Given the description of an element on the screen output the (x, y) to click on. 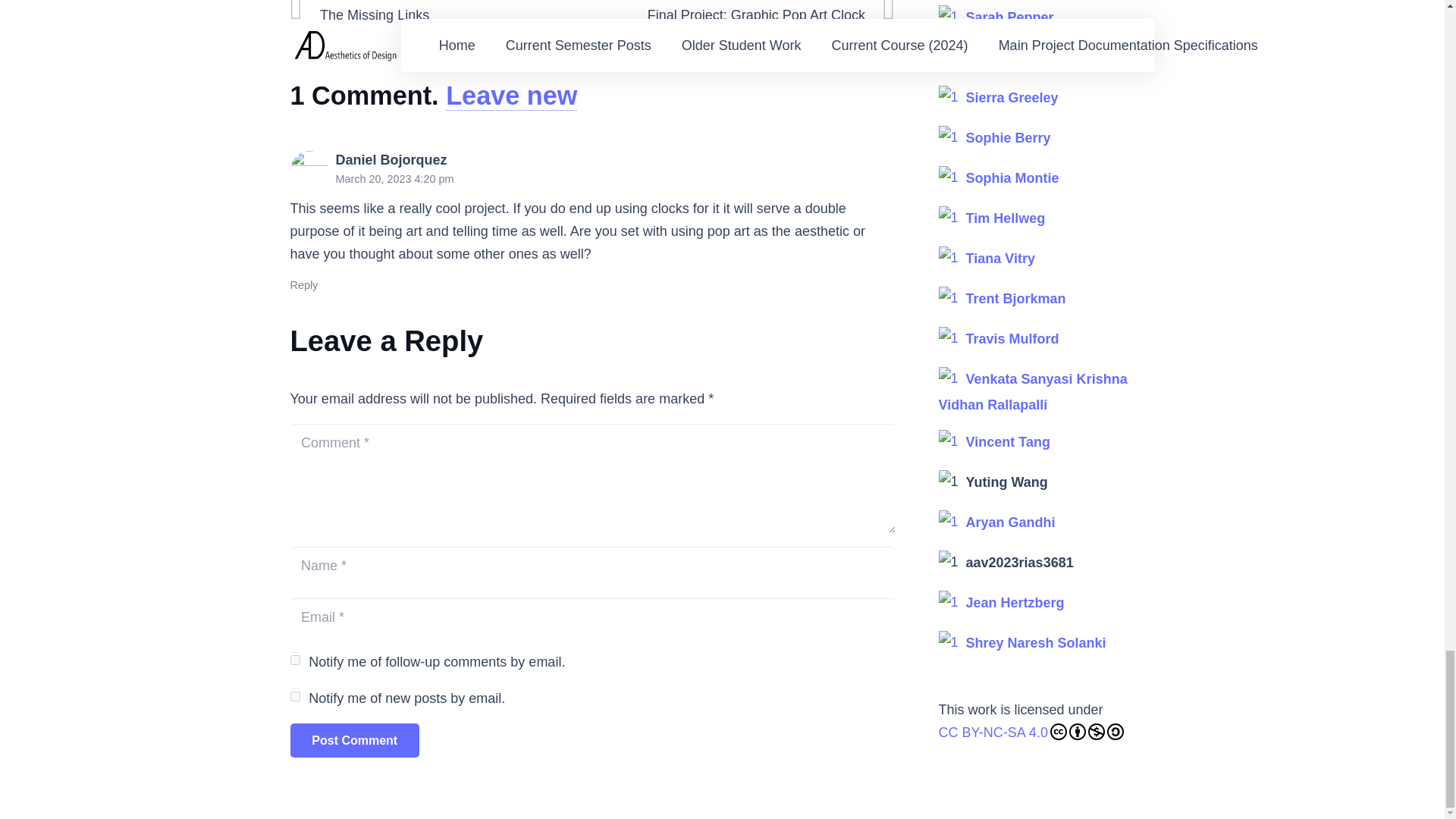
Final Project: Graphic Pop Art Clock (743, 12)
The Missing Links (440, 12)
March 20, 2023 4:20 pm (393, 178)
